Given the description of an element on the screen output the (x, y) to click on. 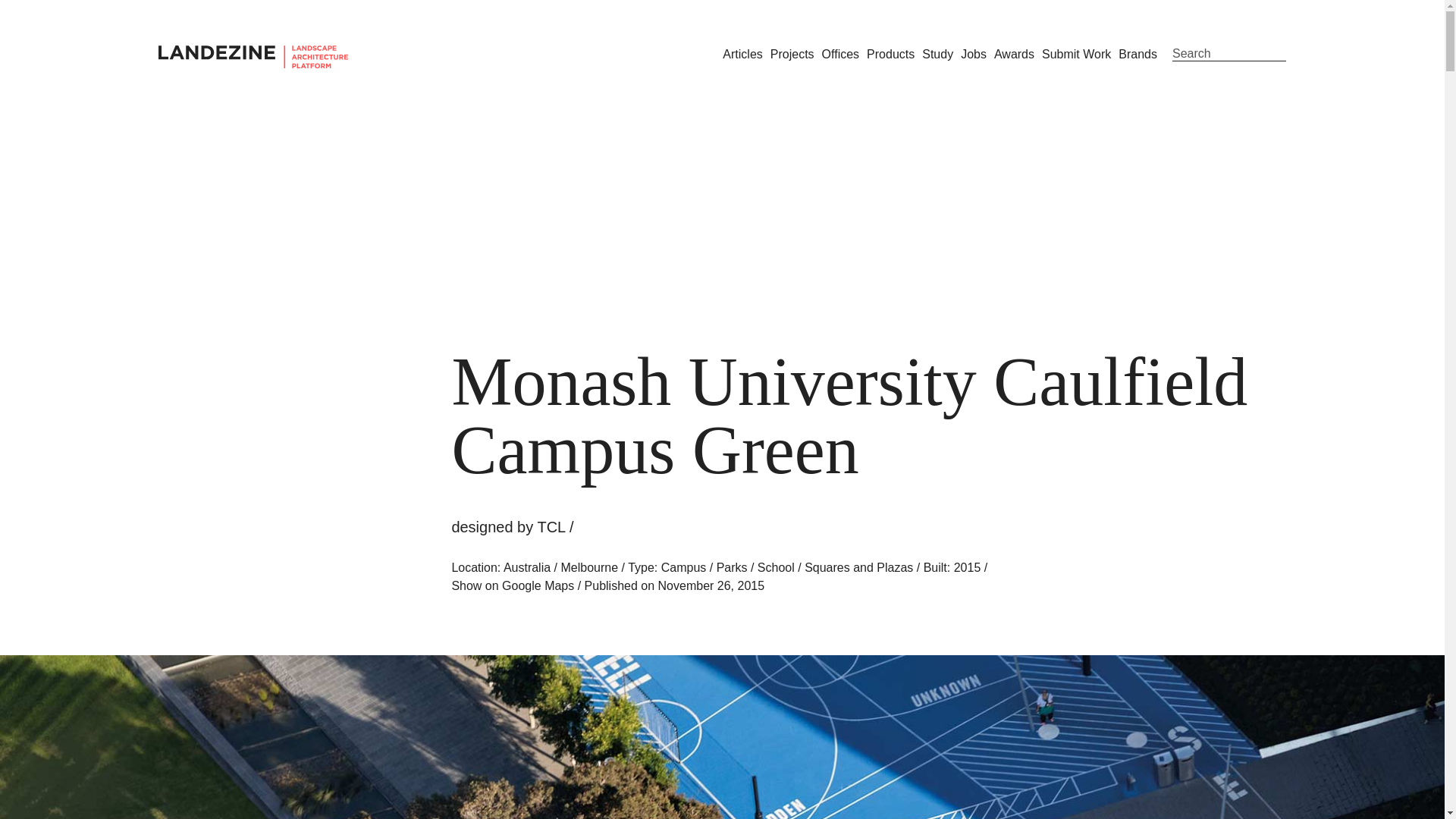
Articles (741, 53)
Search (1228, 53)
Jobs (973, 53)
TCL (550, 526)
Projects (791, 53)
Offices (841, 53)
Products (890, 53)
Show on Google Maps (512, 585)
Submit Work (1076, 53)
Brands (1137, 53)
